Given the description of an element on the screen output the (x, y) to click on. 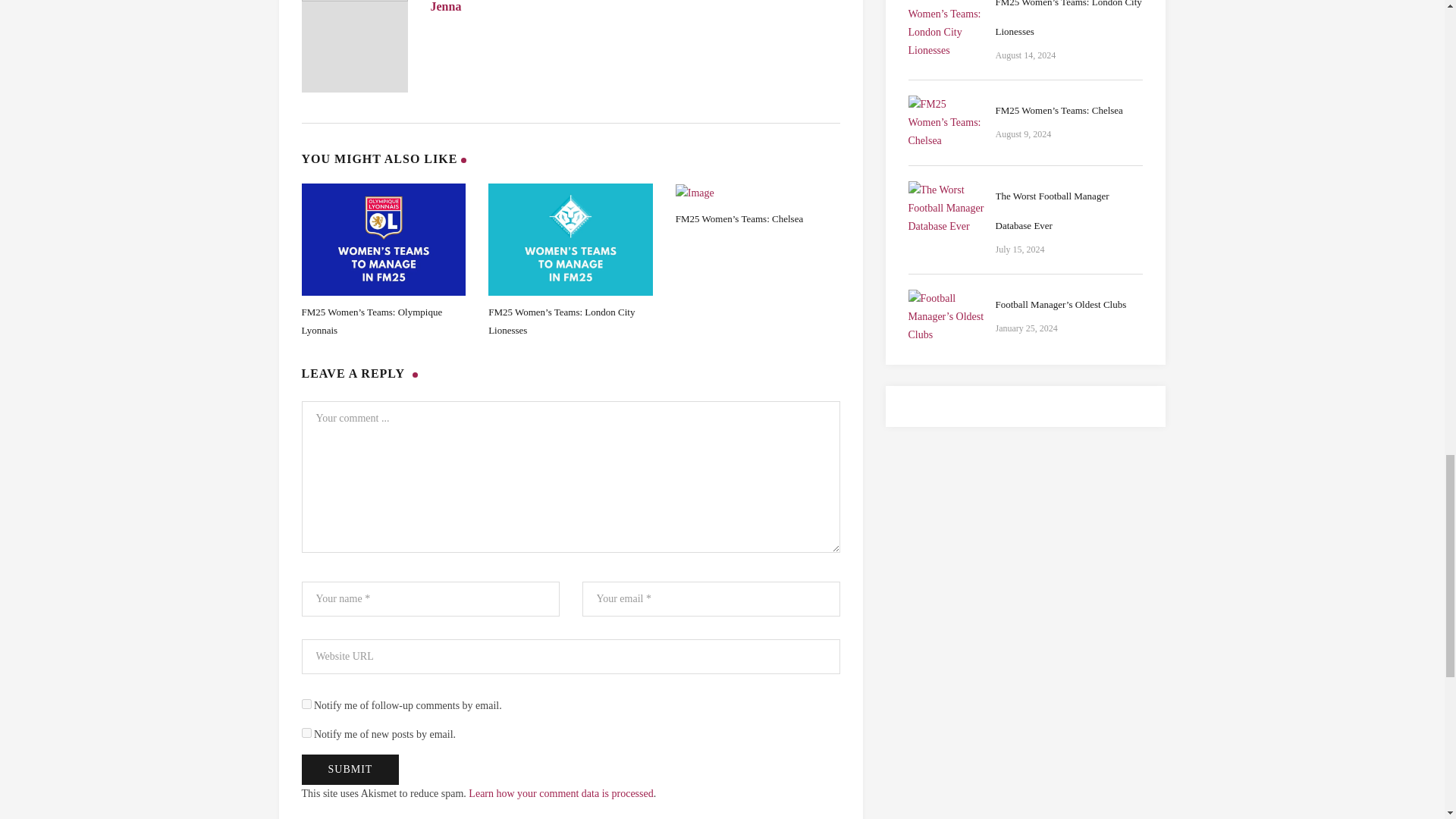
subscribe (306, 732)
subscribe (306, 704)
Submit (349, 769)
Jenna (445, 6)
